Given the description of an element on the screen output the (x, y) to click on. 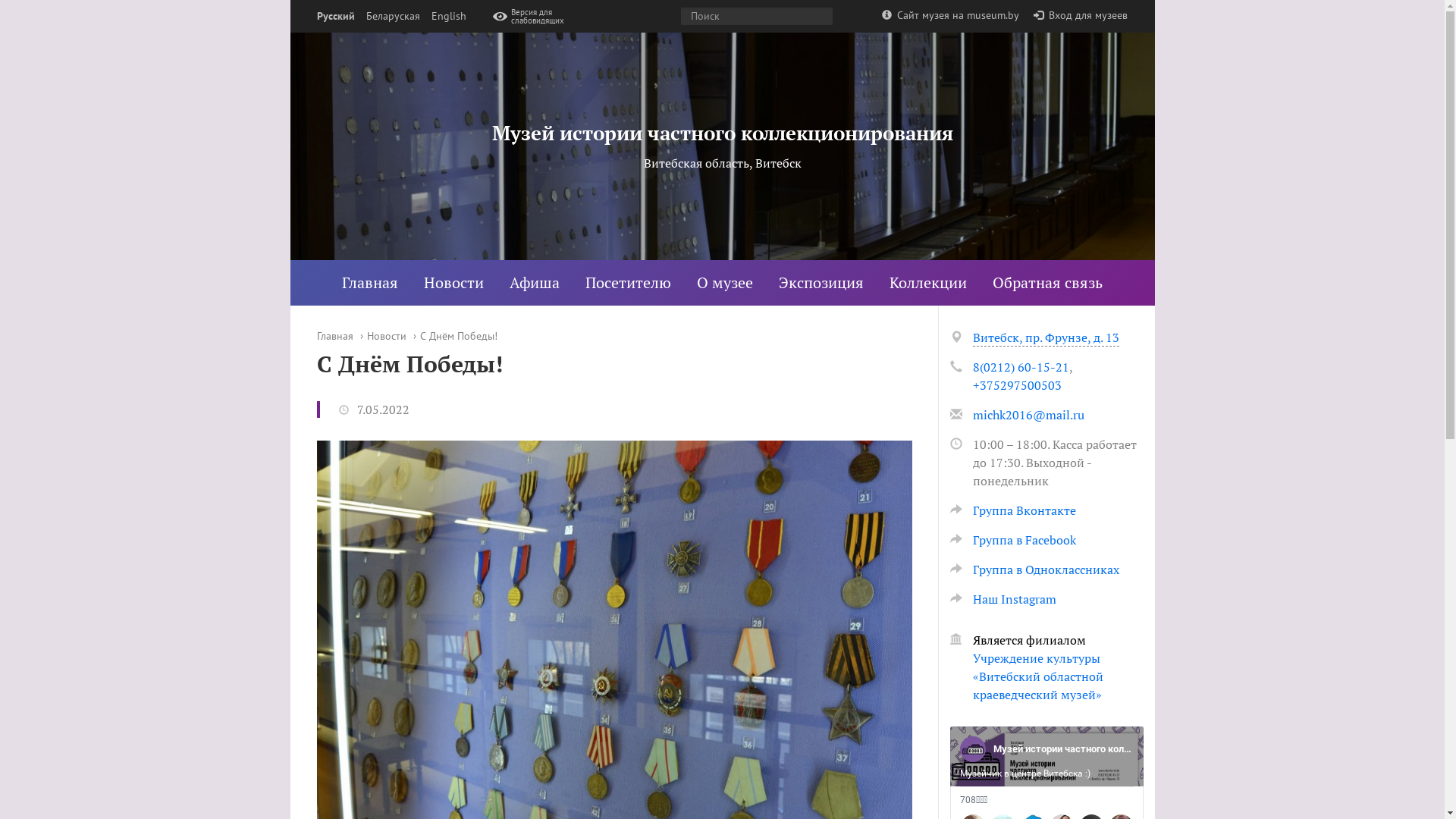
+375297500503 Element type: text (1016, 385)
michk2016@mail.ru Element type: text (1027, 414)
English Element type: text (447, 16)
8(0212) 60-15-21 Element type: text (1020, 366)
